Given the description of an element on the screen output the (x, y) to click on. 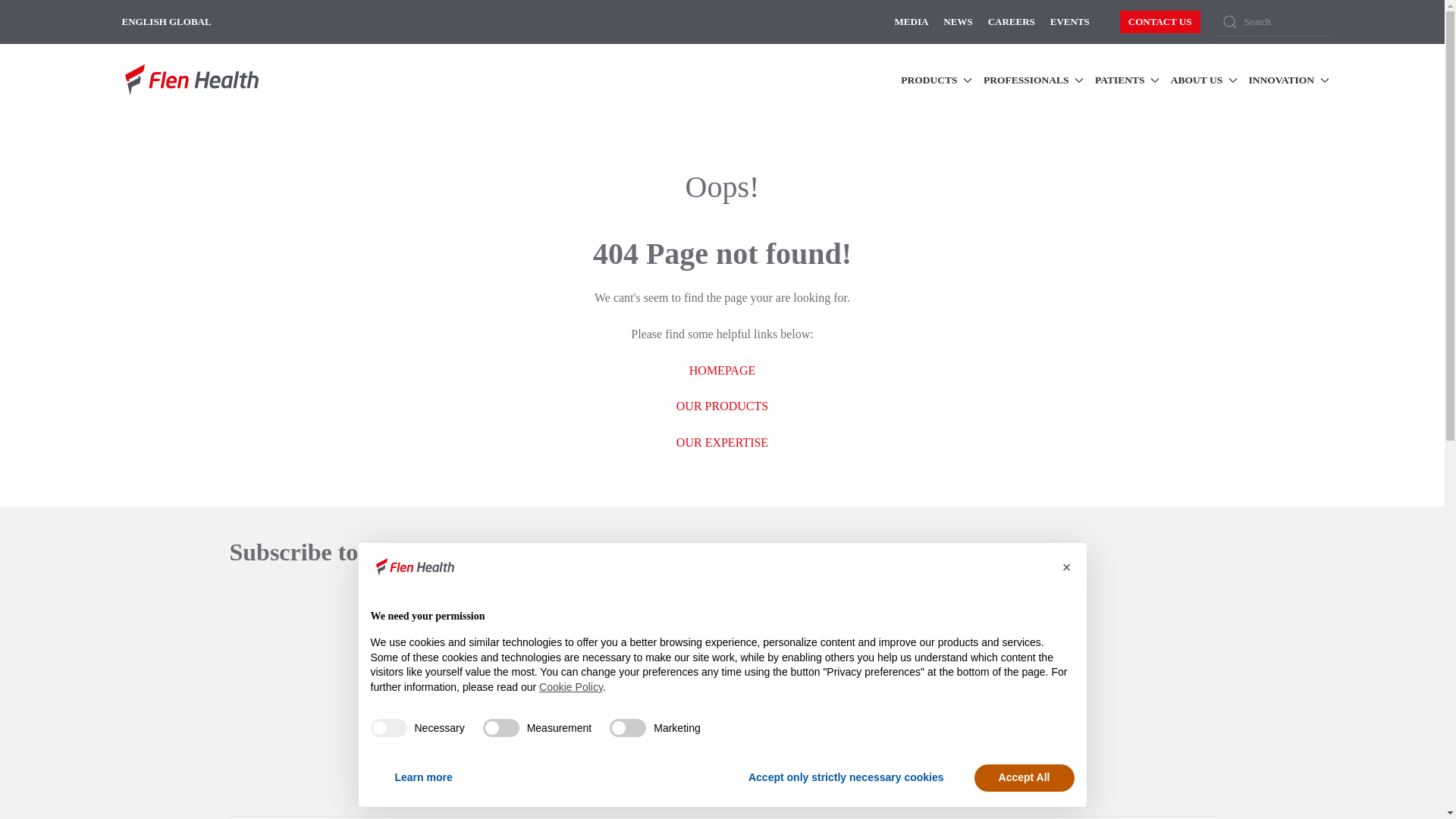
true (387, 728)
false (501, 728)
false (628, 728)
ENGLISH GLOBAL (165, 21)
